Given the description of an element on the screen output the (x, y) to click on. 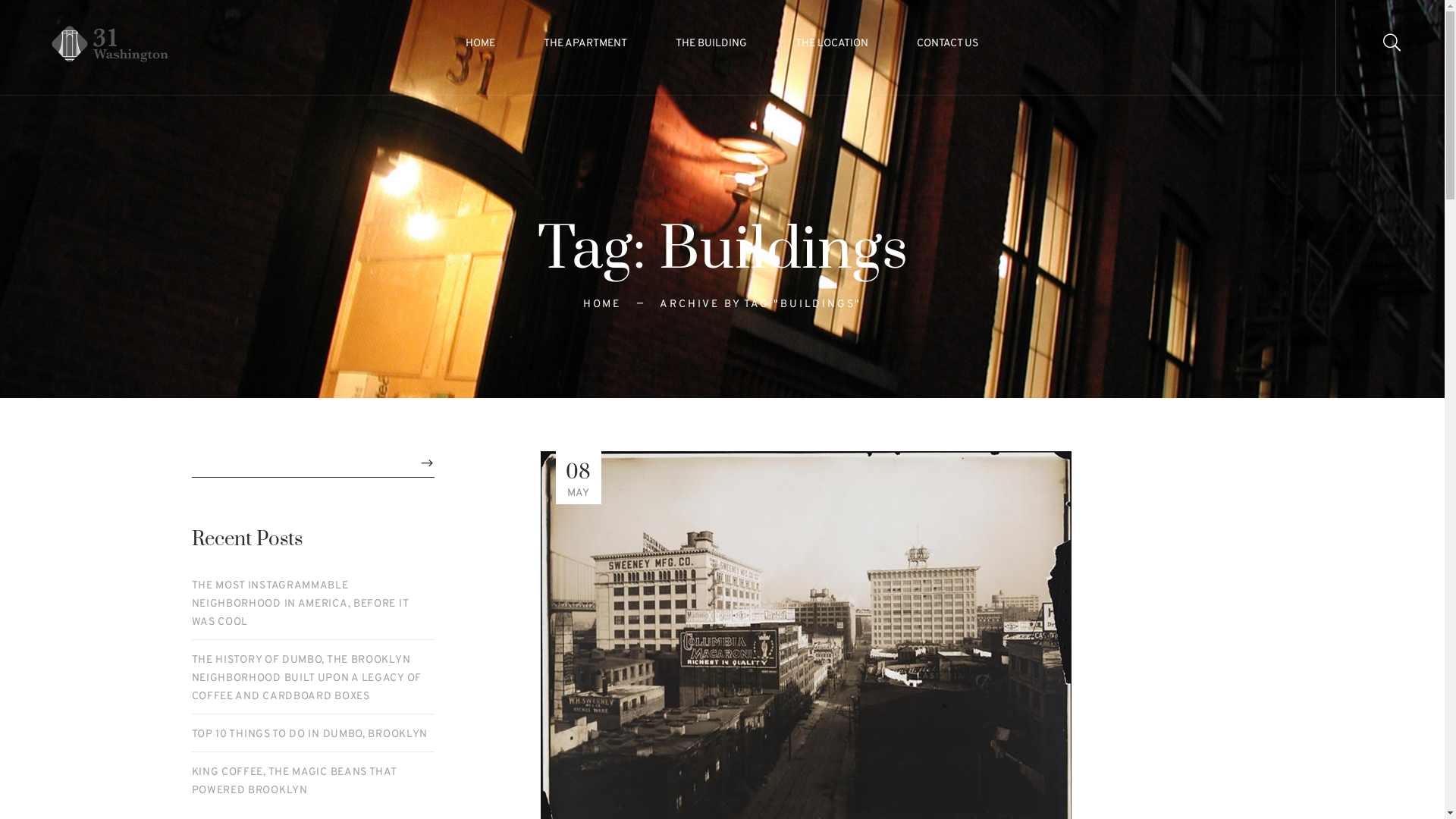
HOME Element type: text (602, 304)
THE LOCATION Element type: text (831, 43)
KING COFFEE, THE MAGIC BEANS THAT POWERED BROOKLYN Element type: text (312, 781)
TOP 10 THINGS TO DO IN DUMBO, BROOKLYN Element type: text (309, 734)
SEARCH Element type: text (425, 463)
CONTACT US Element type: text (936, 43)
THE BUILDING Element type: text (710, 43)
THE APARTMENT Element type: text (584, 43)
HOME Element type: text (491, 43)
